Given the description of an element on the screen output the (x, y) to click on. 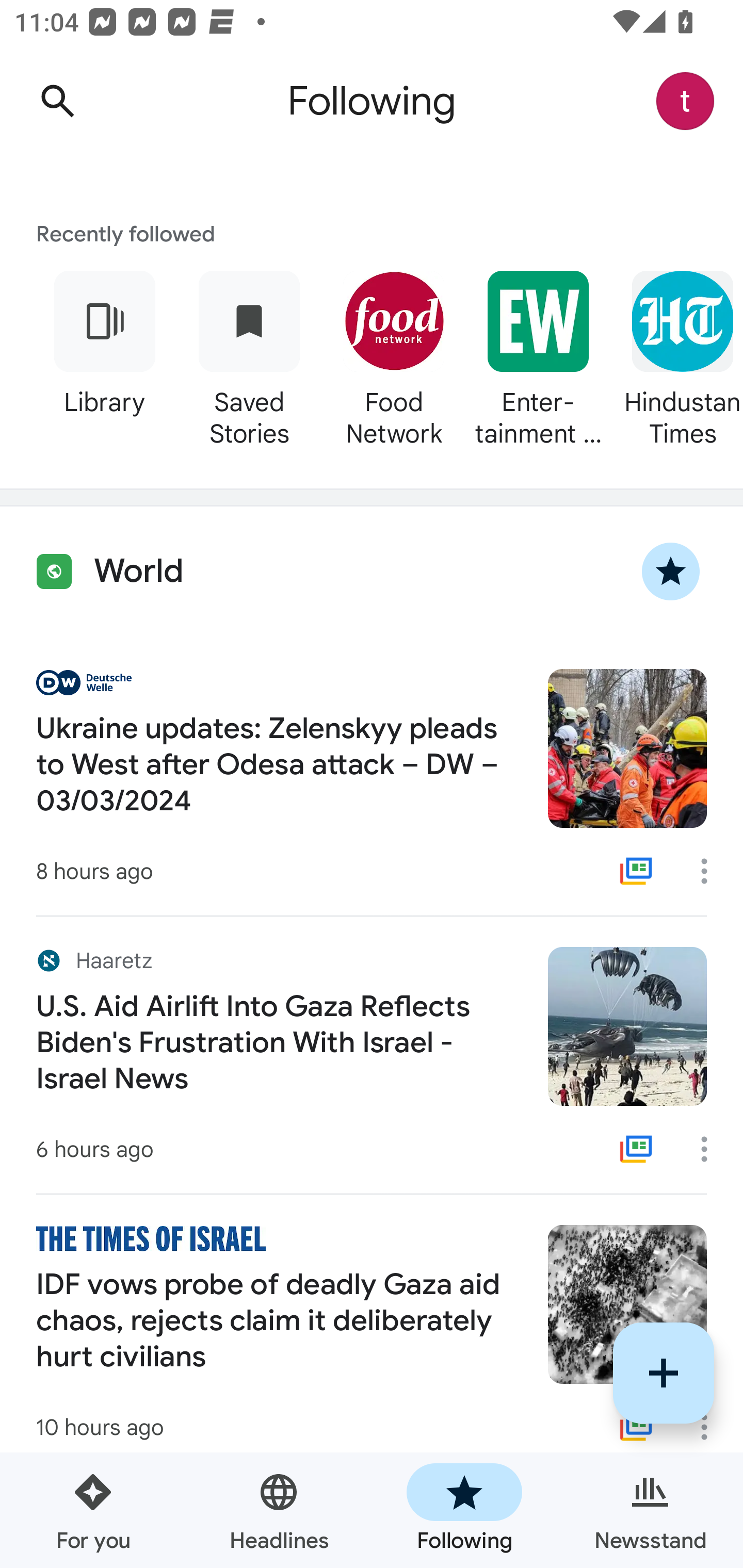
Search (57, 100)
Library (104, 355)
Saved Stories (248, 355)
Food Network (393, 355)
Entertainment Weekly News (537, 355)
Hindustan Times (676, 355)
World World Unfollow (371, 571)
Unfollow (670, 571)
More options (711, 870)
More options (711, 1149)
Follow (663, 1372)
More options (711, 1426)
For you (92, 1509)
Headlines (278, 1509)
Following (464, 1509)
Newsstand (650, 1509)
